Given the description of an element on the screen output the (x, y) to click on. 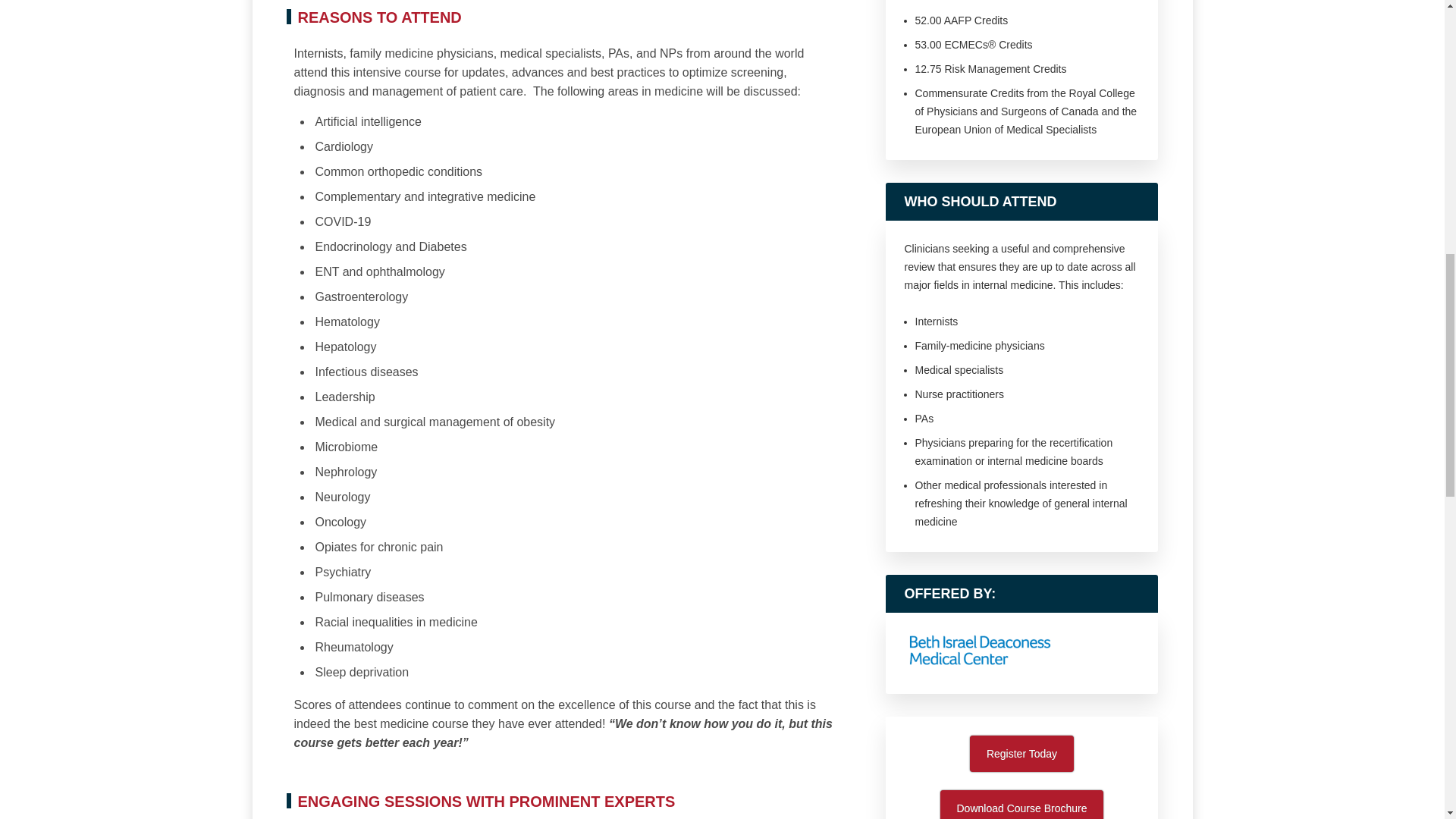
Register Today (1021, 753)
Download Course Brochure (1021, 804)
